Given the description of an element on the screen output the (x, y) to click on. 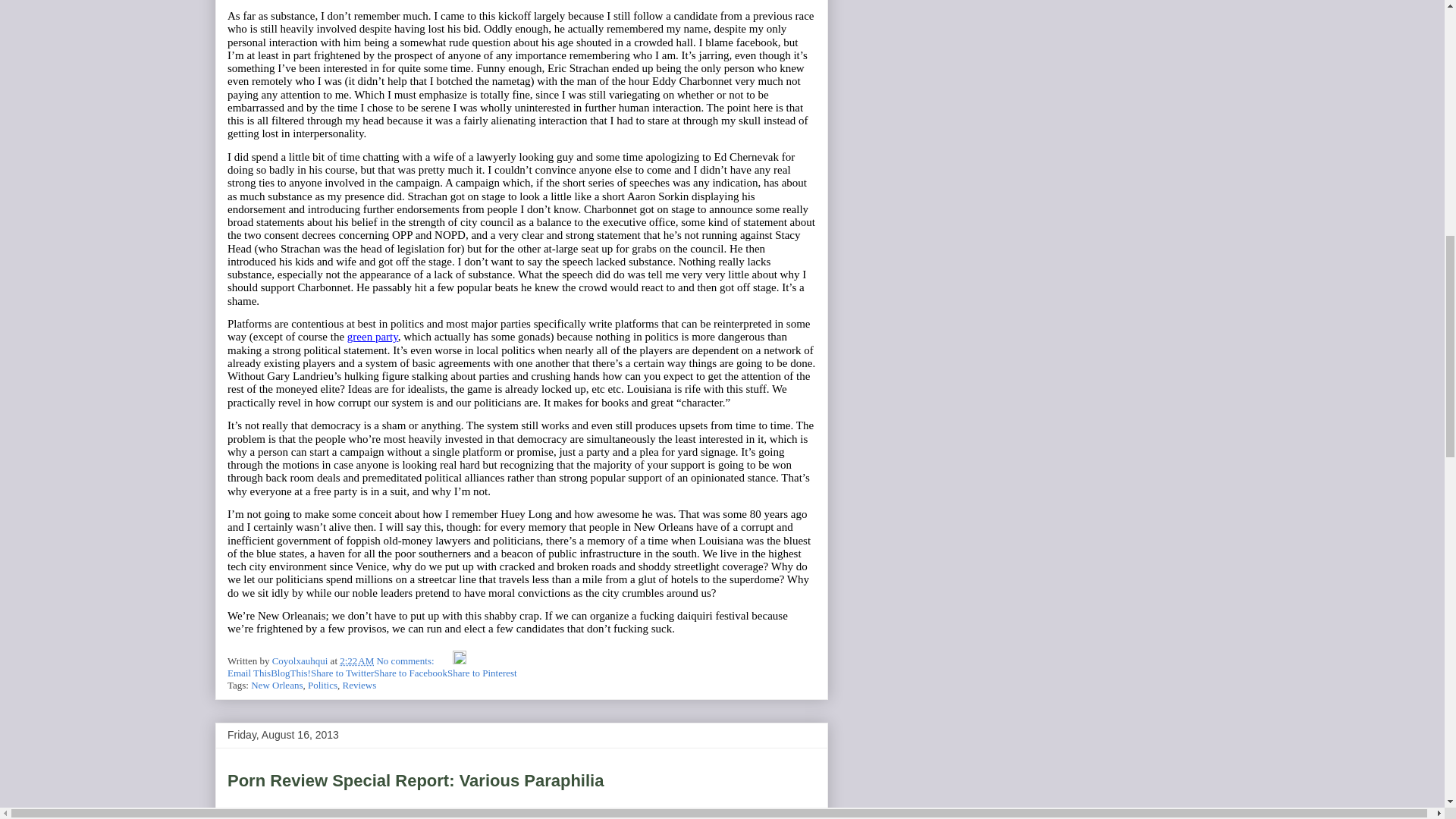
Share to Pinterest (481, 672)
Share to Facebook (410, 672)
Politics (322, 685)
green party (372, 337)
Email This (248, 672)
Porn Review Special Report: Various Paraphilia (415, 780)
No comments: (405, 660)
Email Post (444, 660)
BlogThis! (290, 672)
